Given the description of an element on the screen output the (x, y) to click on. 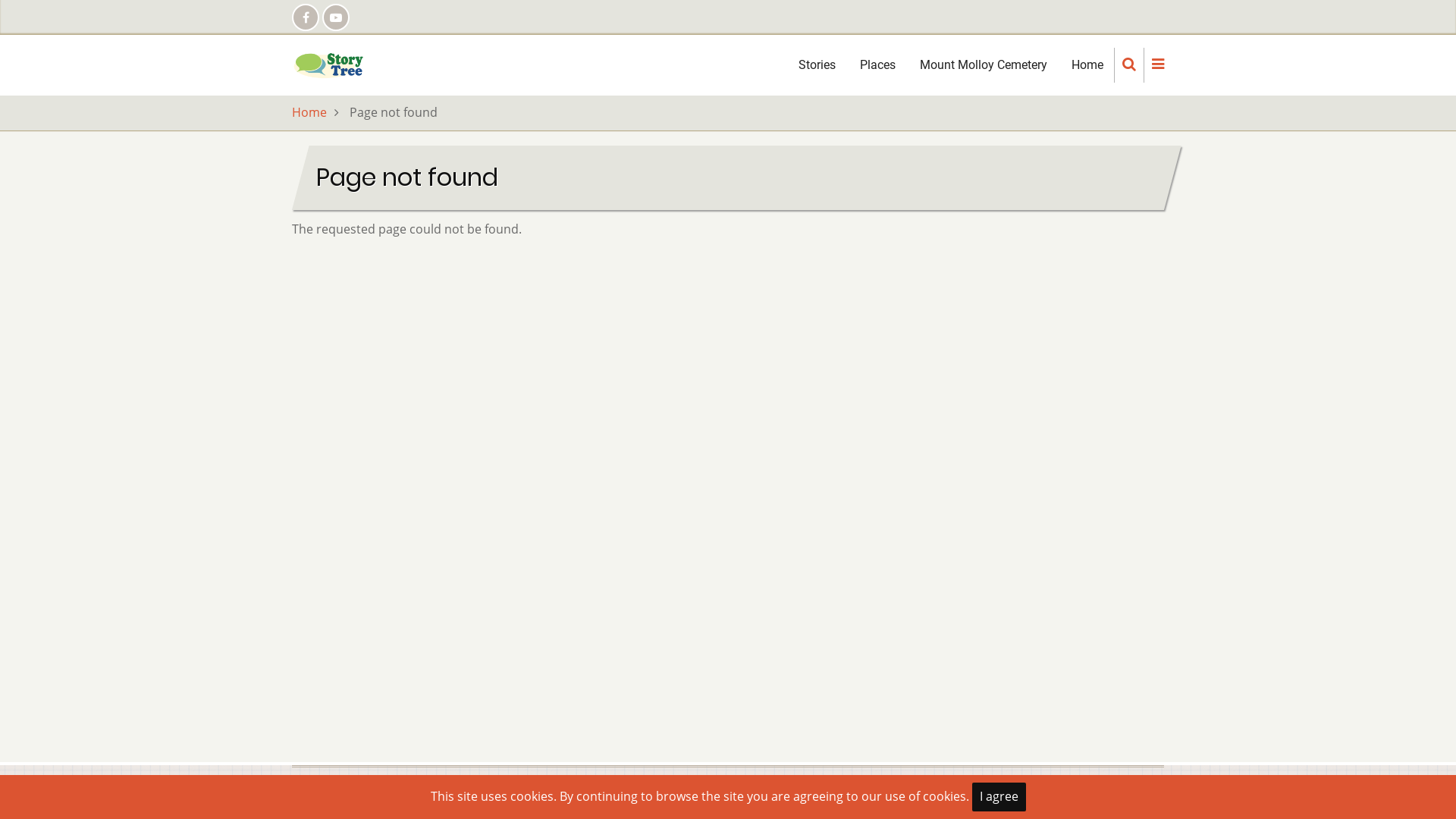
Home Element type: text (308, 111)
Stories Element type: text (816, 65)
Mount Molloy Cemetery Element type: text (983, 65)
Home Element type: text (1086, 65)
I agree Element type: text (999, 796)
Skip to main content Element type: text (0, 0)
Places Element type: text (877, 65)
Home Element type: hover (328, 63)
